Given the description of an element on the screen output the (x, y) to click on. 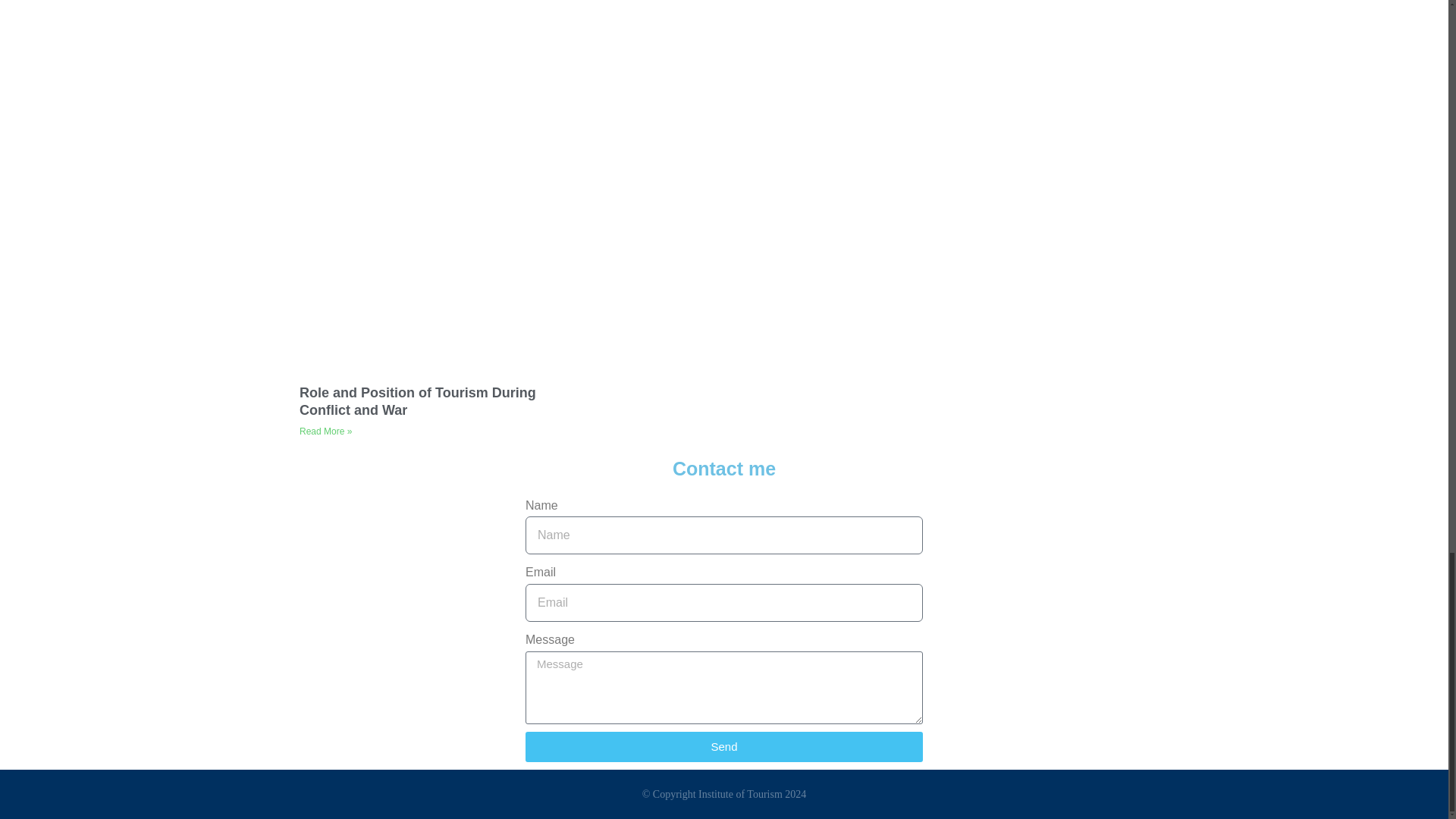
Send (724, 747)
Role and Position of Tourism During Conflict and War (417, 400)
